Given the description of an element on the screen output the (x, y) to click on. 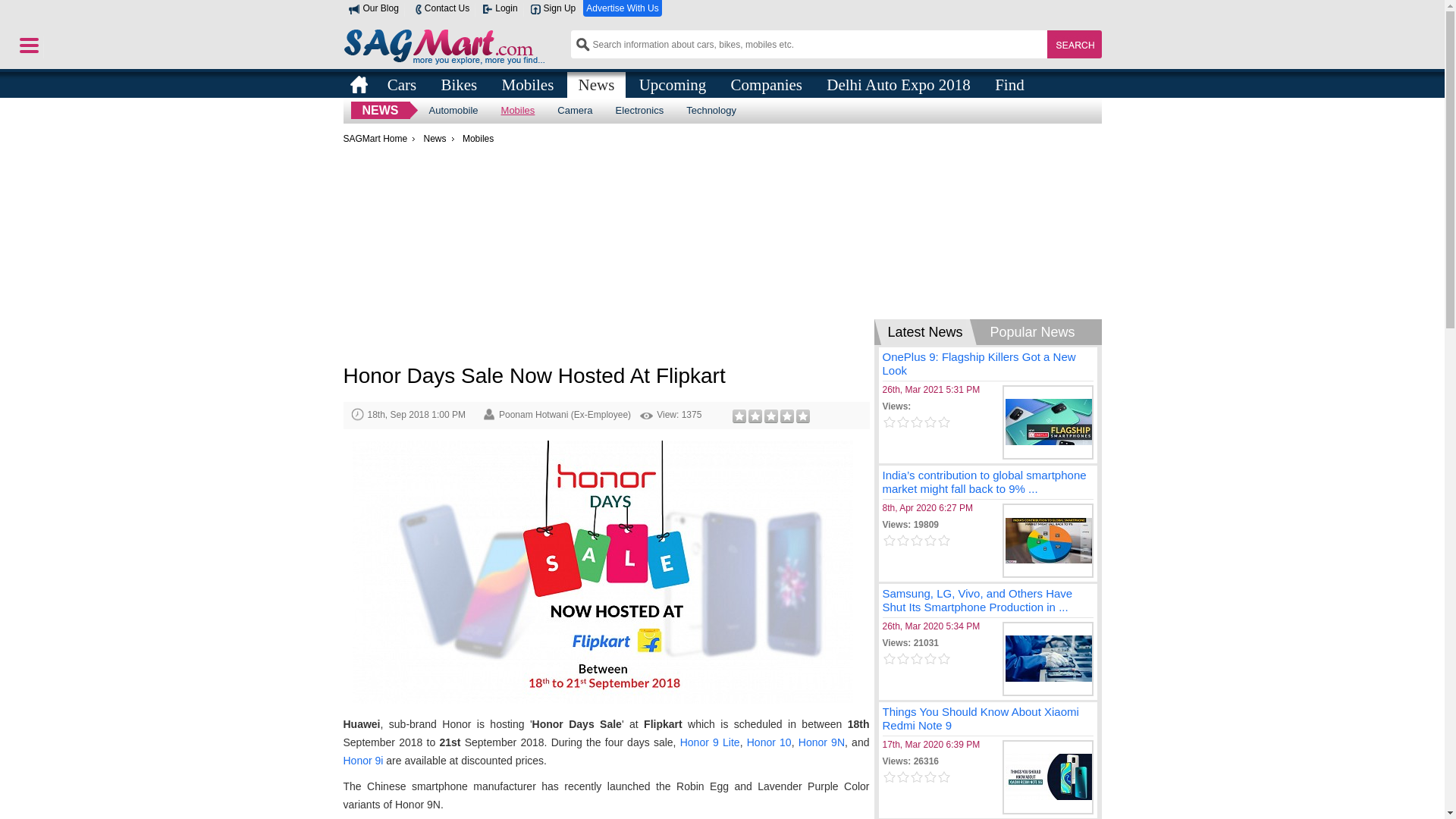
Camera (575, 109)
Find (1009, 84)
Our Blog (372, 8)
Normal (754, 416)
Contact Us (439, 8)
Login (499, 8)
Home (358, 84)
Upcoming (672, 84)
Login (499, 8)
honor days sale (601, 571)
